Given the description of an element on the screen output the (x, y) to click on. 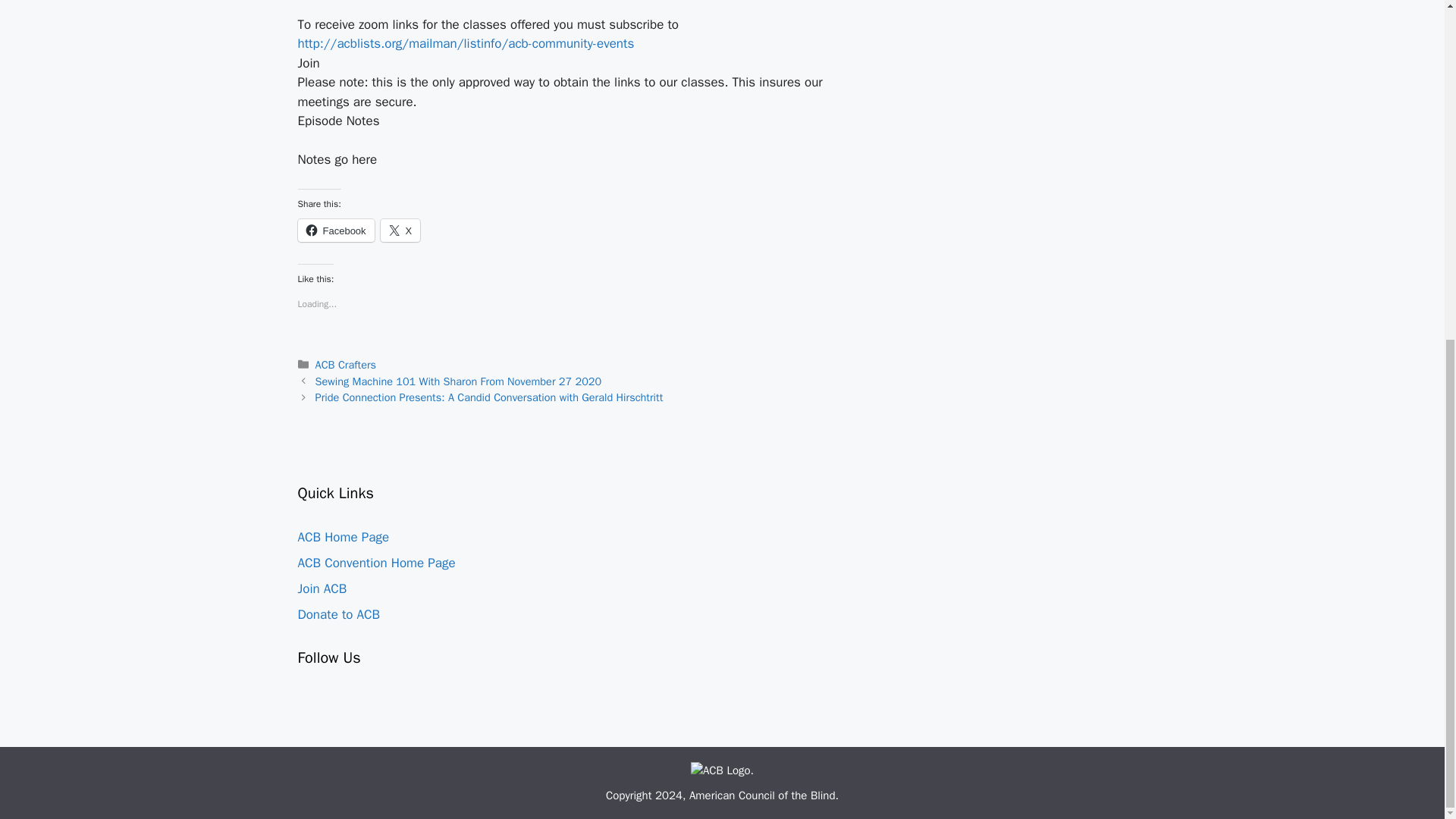
Click to share on X (400, 230)
Sewing Machine 101 With Sharon From November 27 2020 (458, 381)
ACB Crafters (345, 364)
X (400, 230)
Facebook (335, 230)
Click to share on Facebook (335, 230)
